Given the description of an element on the screen output the (x, y) to click on. 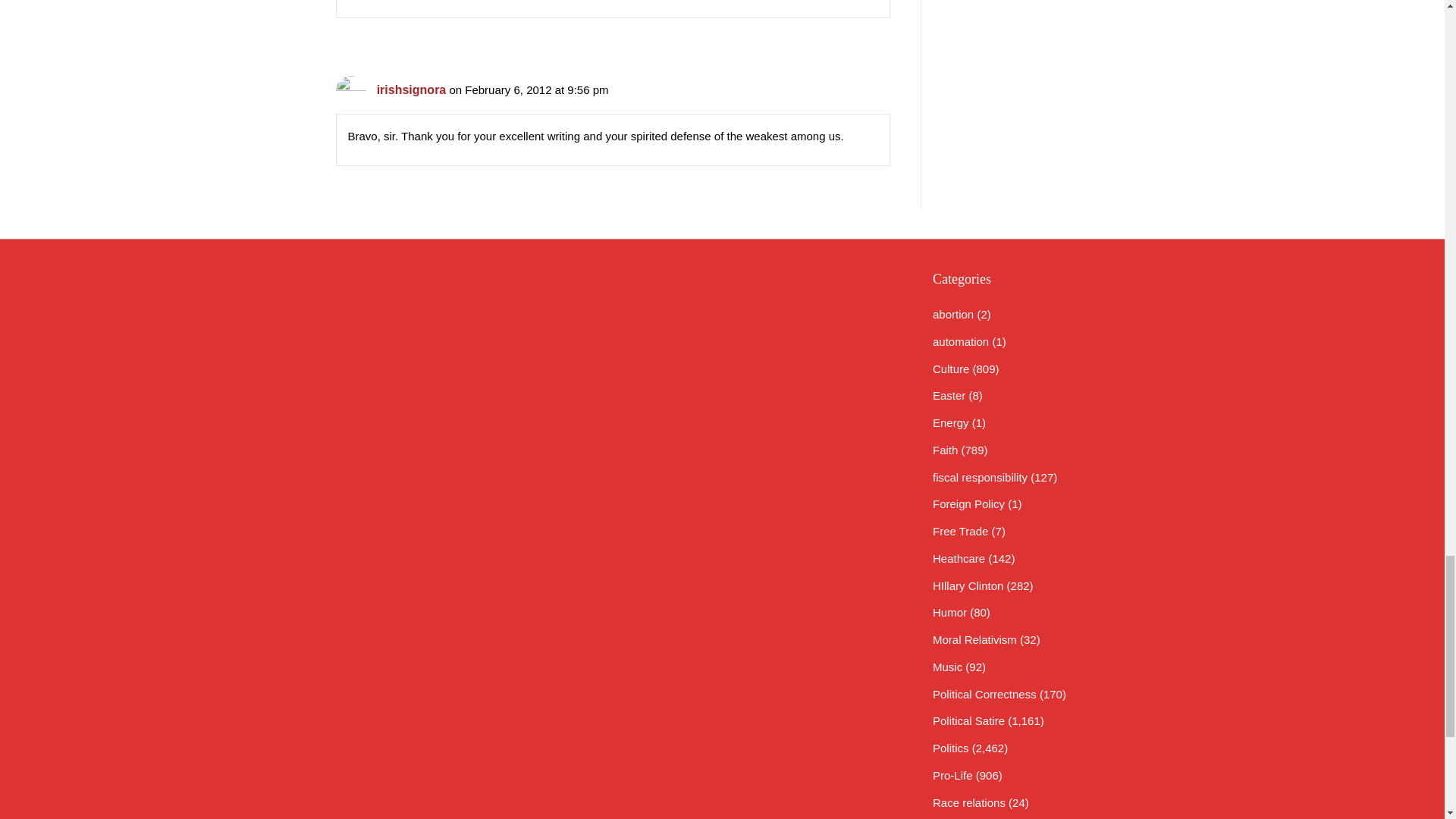
abortion (953, 314)
fiscal responsibility (980, 477)
Energy (951, 422)
Foreign Policy (968, 503)
Easter (949, 395)
Culture (951, 368)
Faith (945, 449)
automation (960, 341)
irishsignora (411, 89)
